Given the description of an element on the screen output the (x, y) to click on. 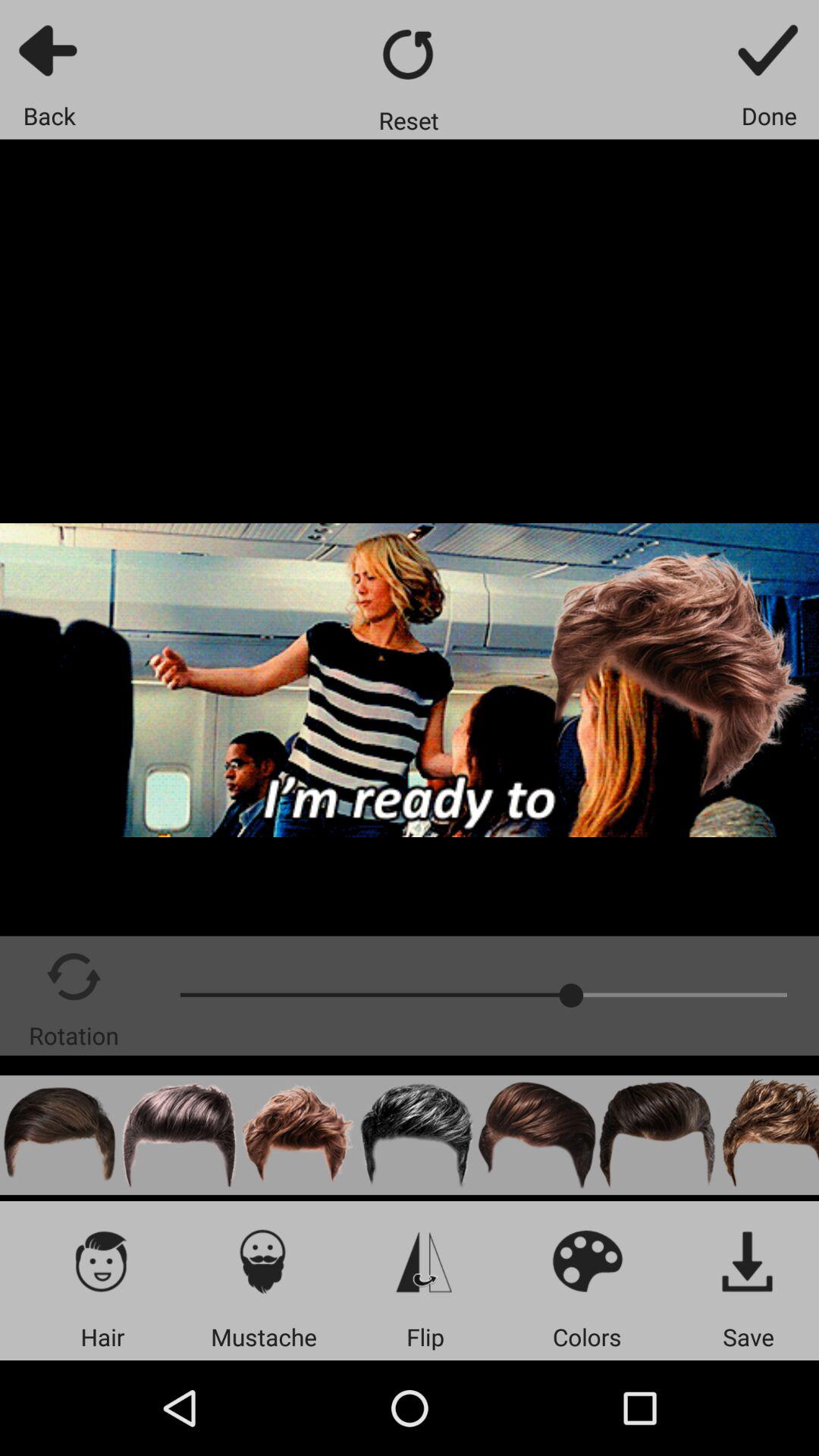
turn off the icon above the done item (769, 49)
